Given the description of an element on the screen output the (x, y) to click on. 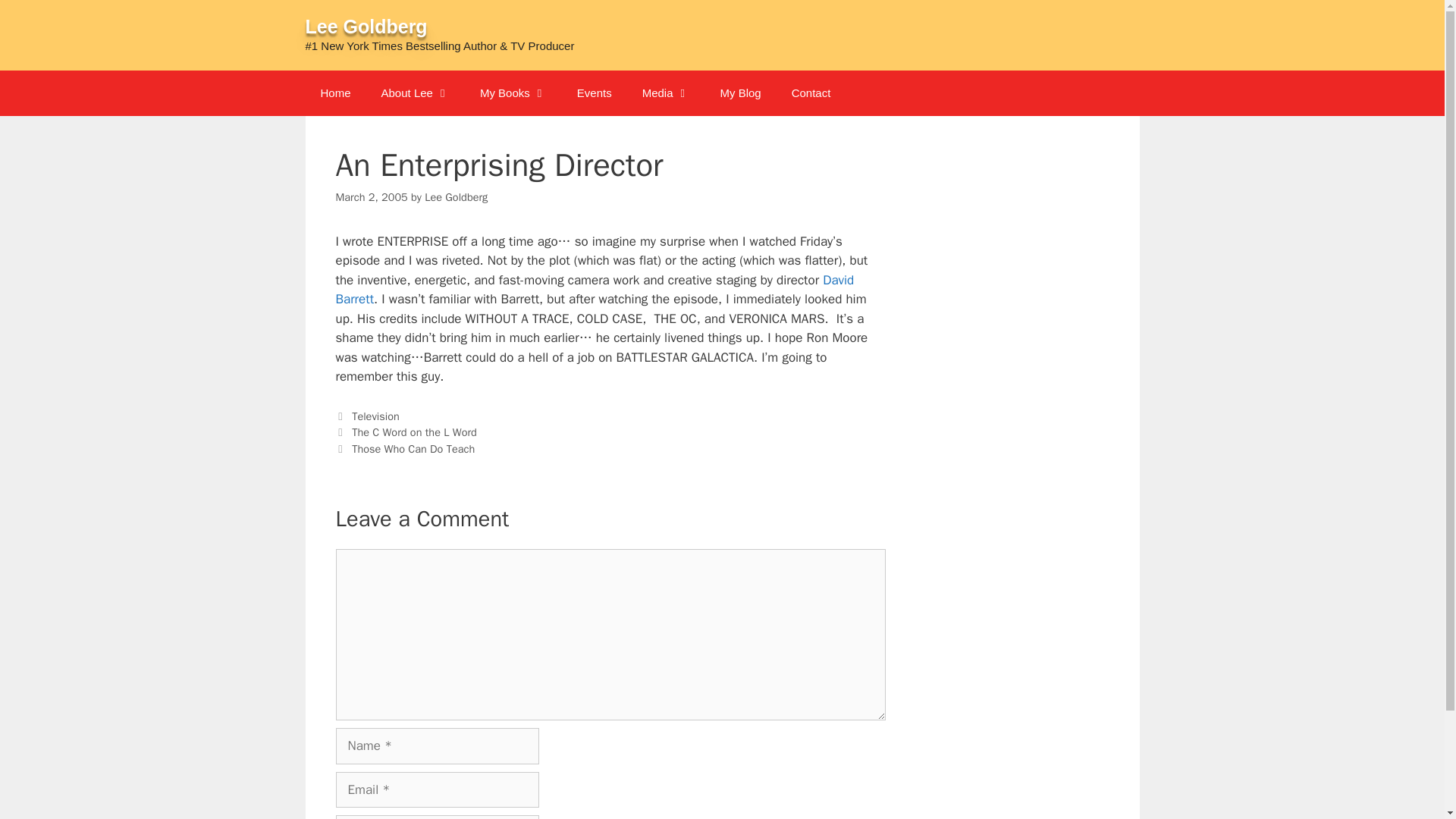
Contact (810, 92)
Those Who Can Do Teach (413, 448)
Events (594, 92)
Lee Goldberg (456, 196)
Home (334, 92)
View all posts by Lee Goldberg (456, 196)
David Barrett (593, 289)
Television (375, 416)
My Blog (740, 92)
My Books (513, 92)
The C Word on the L Word (414, 431)
Media (665, 92)
About Lee (415, 92)
Lee Goldberg (365, 25)
